Given the description of an element on the screen output the (x, y) to click on. 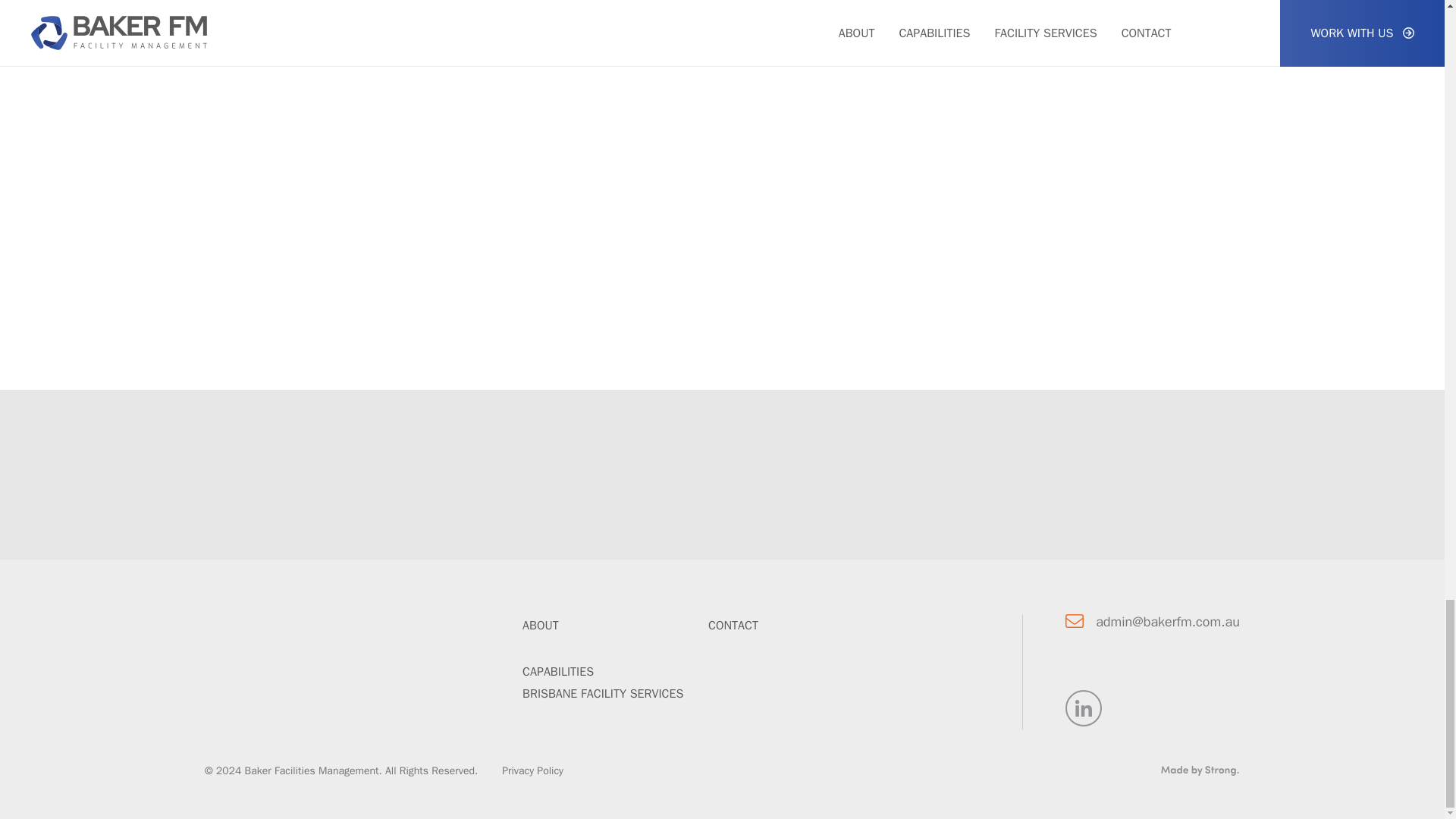
Privacy Policy (532, 770)
BRISBANE FACILITY SERVICES (602, 693)
Website made by Strong Digital (1200, 770)
CAPABILITIES (558, 671)
ABOUT (540, 625)
CONTACT (732, 625)
